Given the description of an element on the screen output the (x, y) to click on. 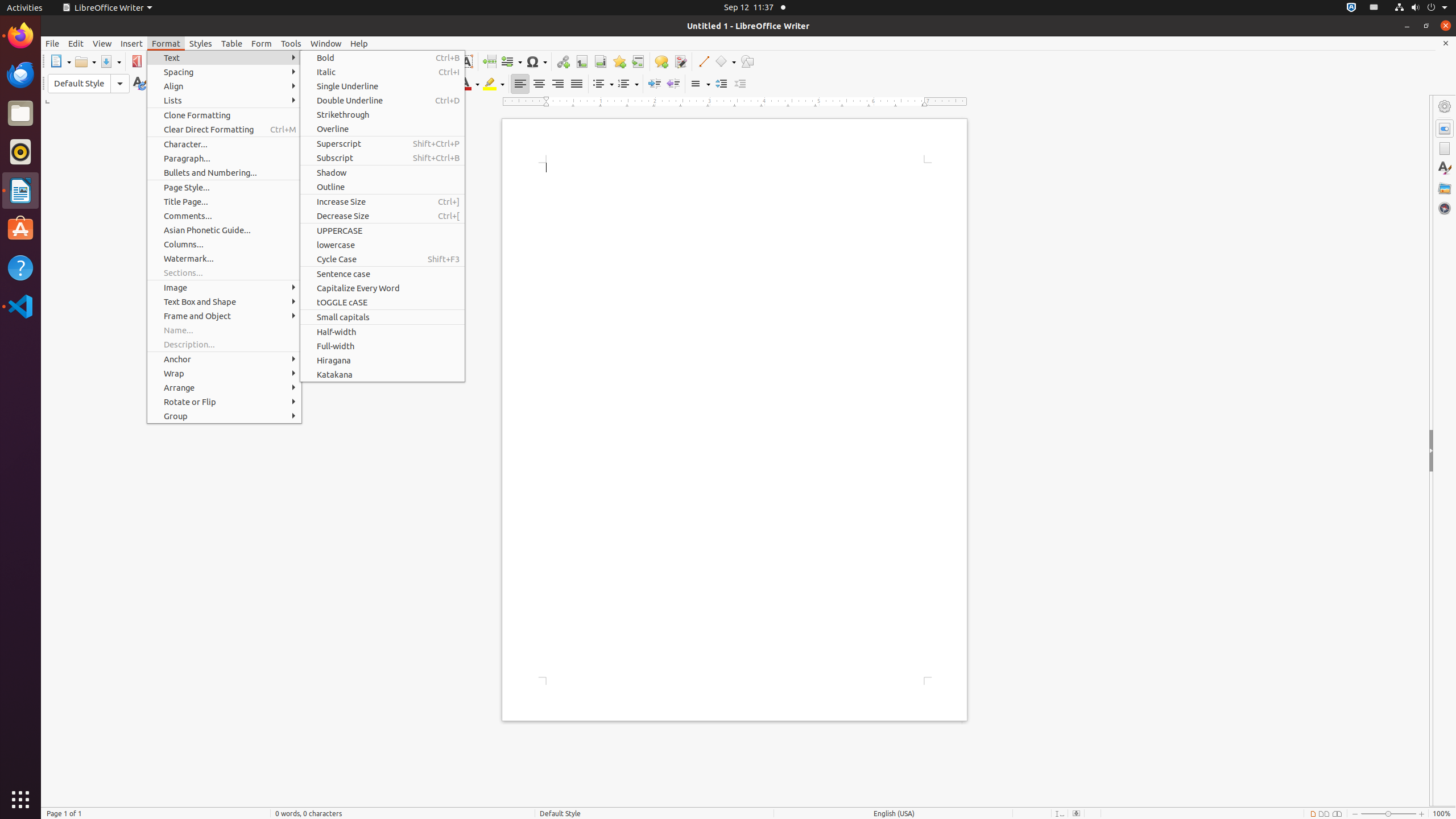
Katakana Element type: menu-item (382, 374)
Page Element type: radio-button (1444, 148)
Footnote Element type: push-button (581, 61)
